Given the description of an element on the screen output the (x, y) to click on. 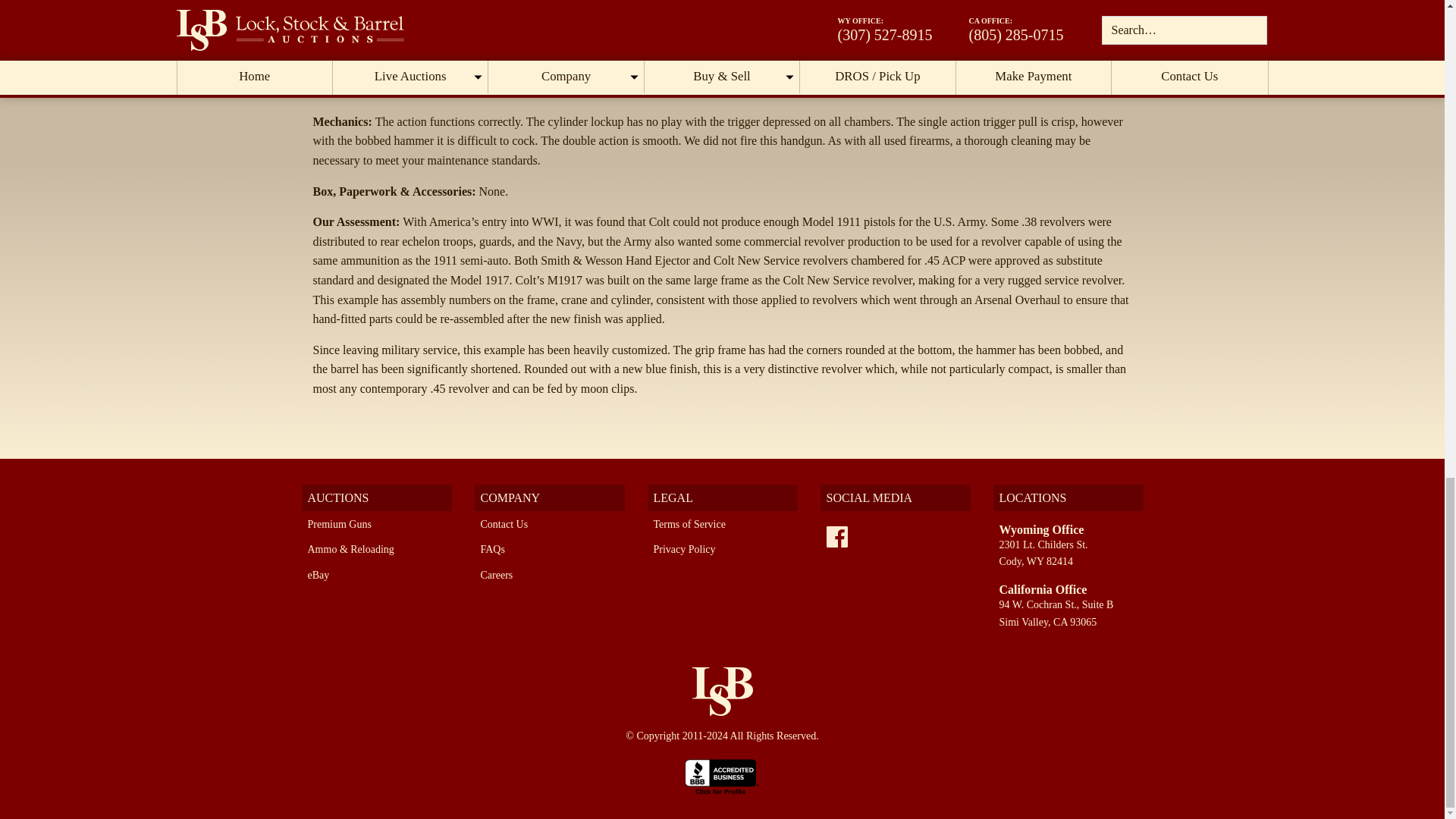
Terms of Service (689, 523)
FAQs (492, 549)
Business Review of Lock, Stock and Barrel Investments (722, 776)
Privacy Policy (684, 549)
Premium Guns (339, 523)
Careers (496, 574)
Opens a new window (837, 536)
Opens a new window (722, 776)
Contact Us (504, 523)
eBay (318, 574)
